Given the description of an element on the screen output the (x, y) to click on. 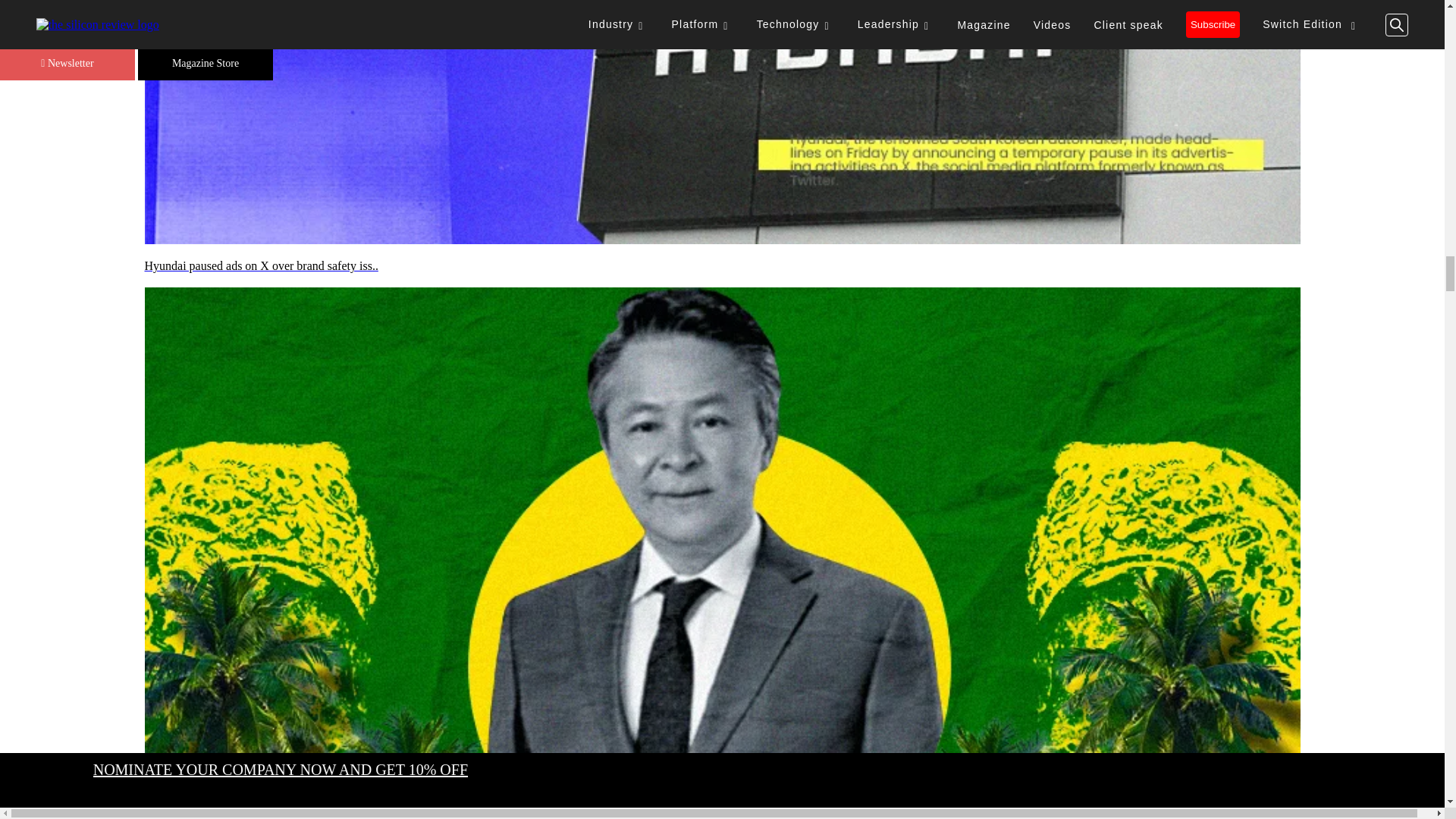
Hyundai paused ads on X over brand safety issues (722, 265)
